Given the description of an element on the screen output the (x, y) to click on. 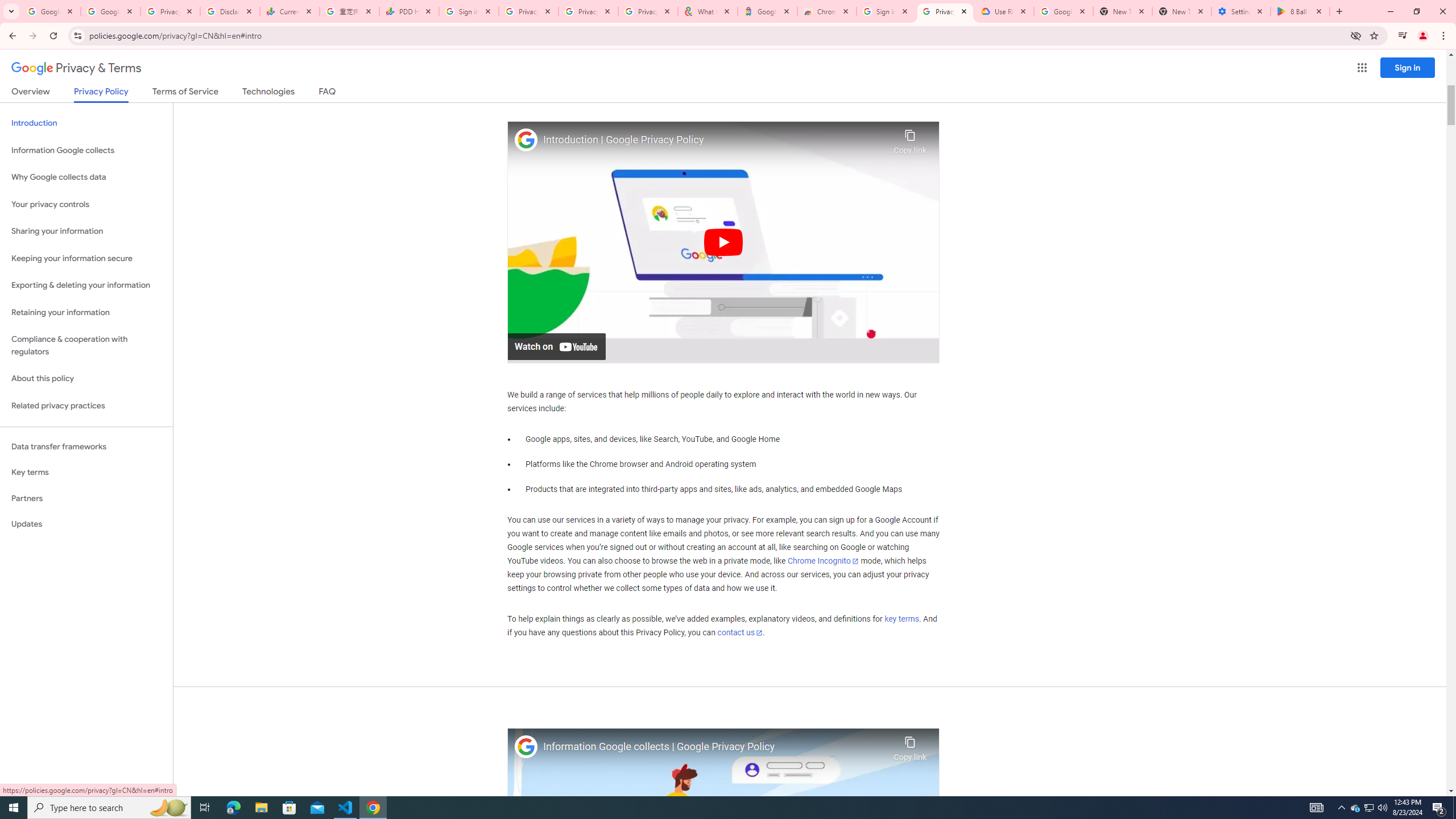
Sign in - Google Accounts (885, 11)
Related privacy practices (86, 405)
Technologies (268, 93)
Settings - System (1241, 11)
Retaining your information (86, 312)
Privacy Checkup (588, 11)
Privacy & Terms (76, 68)
Data transfer frameworks (86, 446)
Compliance & cooperation with regulators (86, 345)
